Given the description of an element on the screen output the (x, y) to click on. 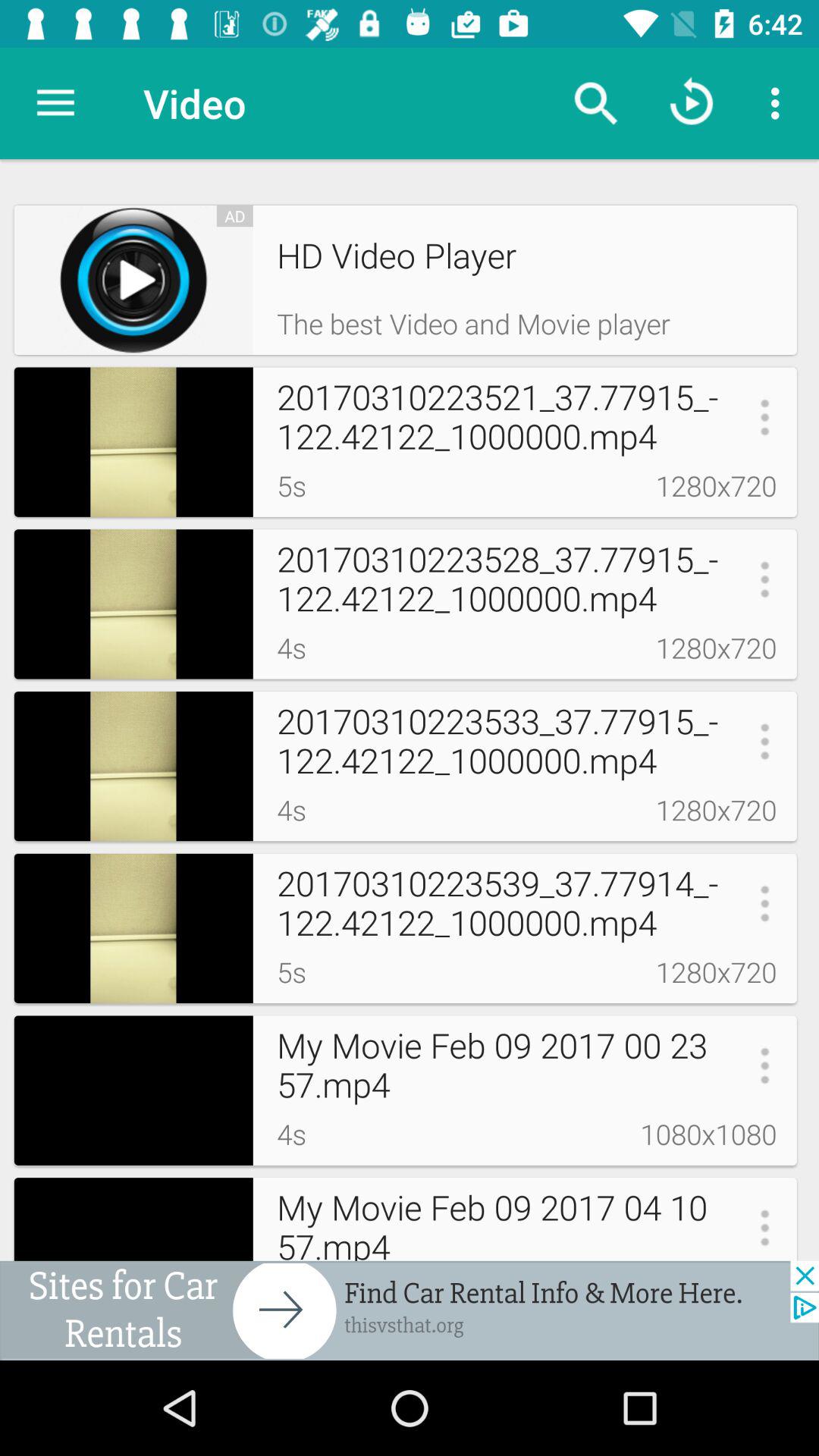
advertising bar (409, 1310)
